Given the description of an element on the screen output the (x, y) to click on. 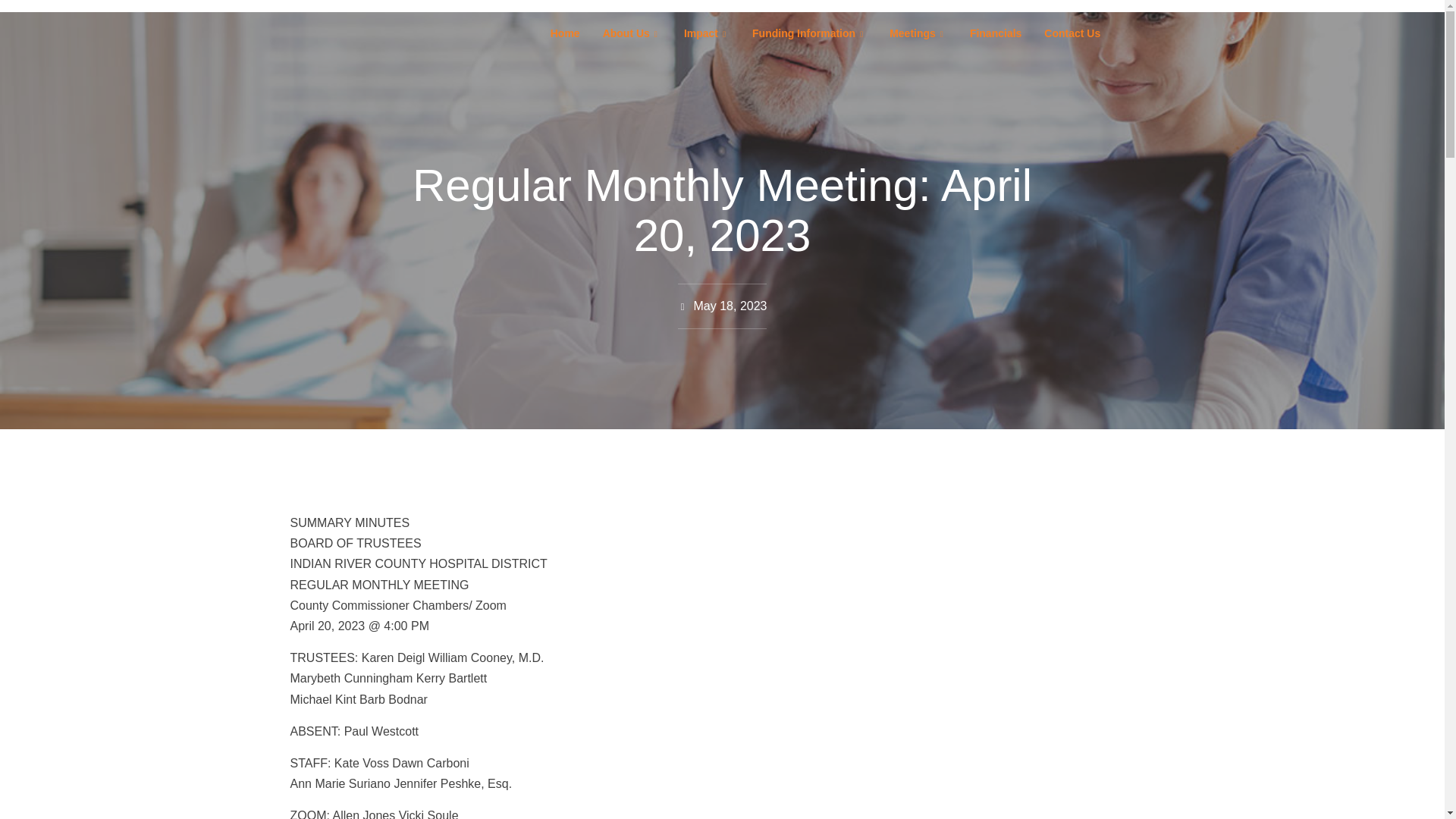
Financials (995, 33)
Home (564, 33)
Funding Information (809, 33)
Contact Us (1072, 33)
May 18, 2023 (722, 305)
About Us (631, 33)
Meetings (917, 33)
Impact (706, 33)
